Given the description of an element on the screen output the (x, y) to click on. 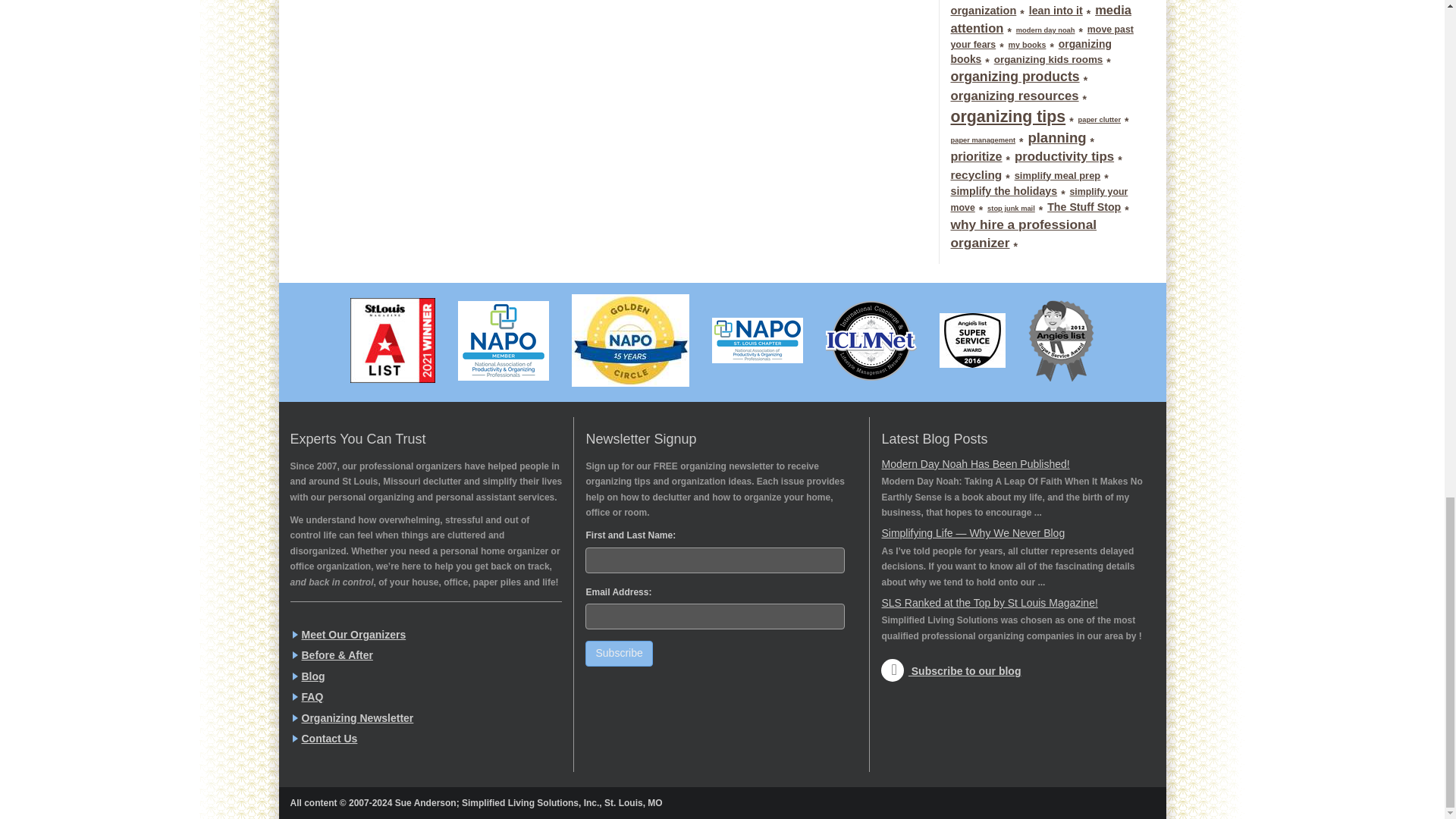
NAPO Golden Circle (630, 340)
NAPO St Louis (756, 340)
NAPO National (503, 340)
